Given the description of an element on the screen output the (x, y) to click on. 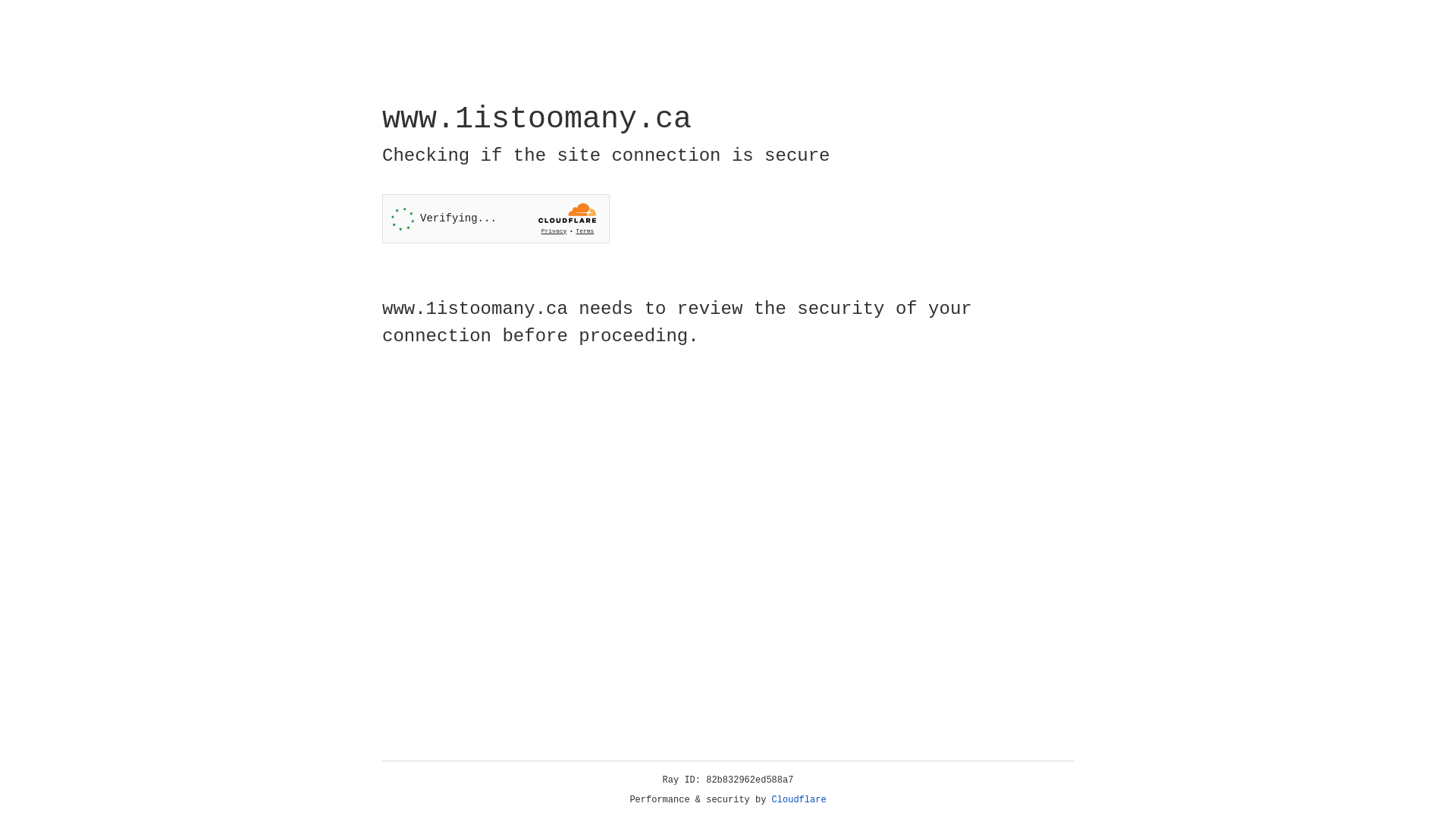
Cloudflare Element type: text (798, 799)
Widget containing a Cloudflare security challenge Element type: hover (495, 218)
